Given the description of an element on the screen output the (x, y) to click on. 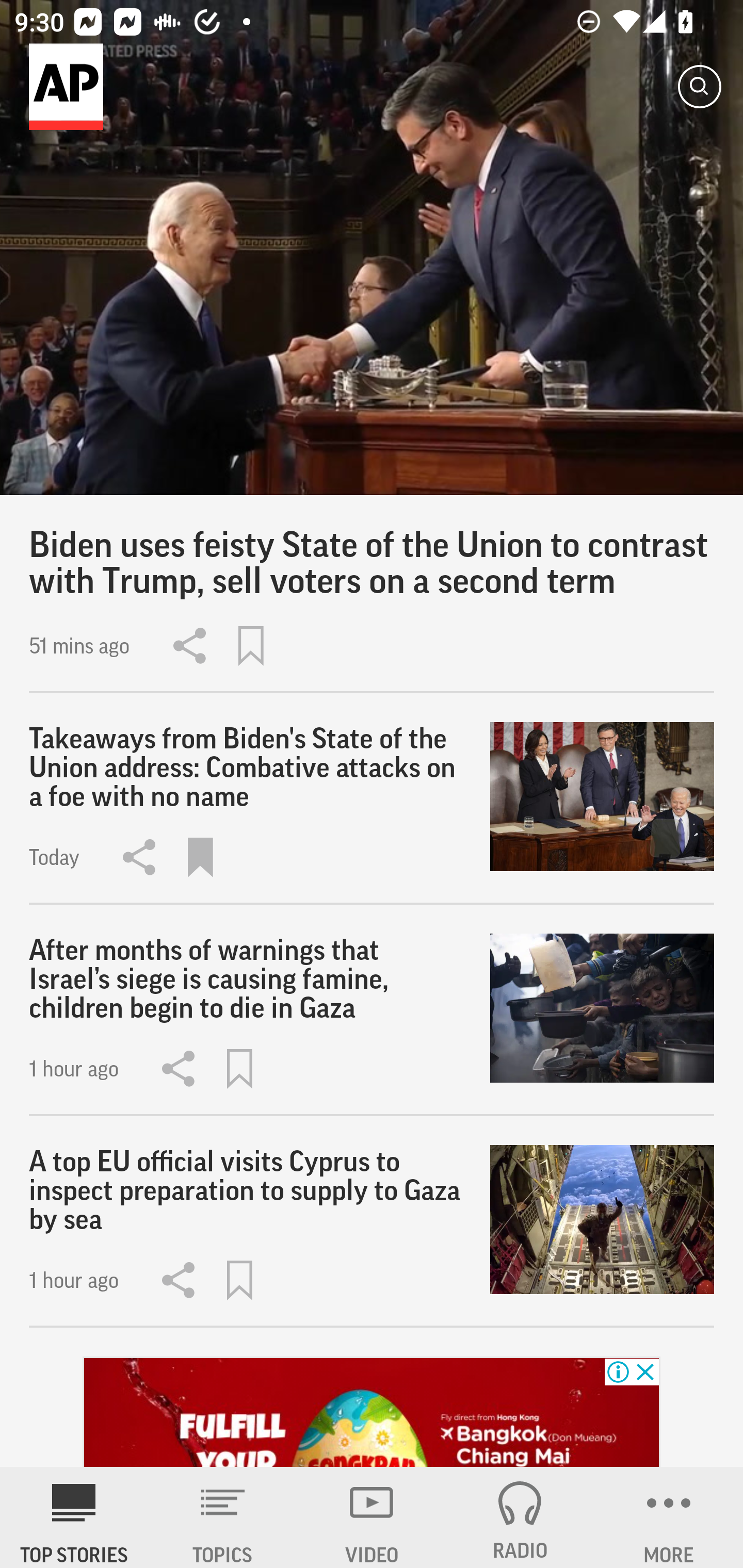
AP News TOP STORIES (74, 1517)
TOPICS (222, 1517)
VIDEO (371, 1517)
RADIO (519, 1517)
MORE (668, 1517)
